Given the description of an element on the screen output the (x, y) to click on. 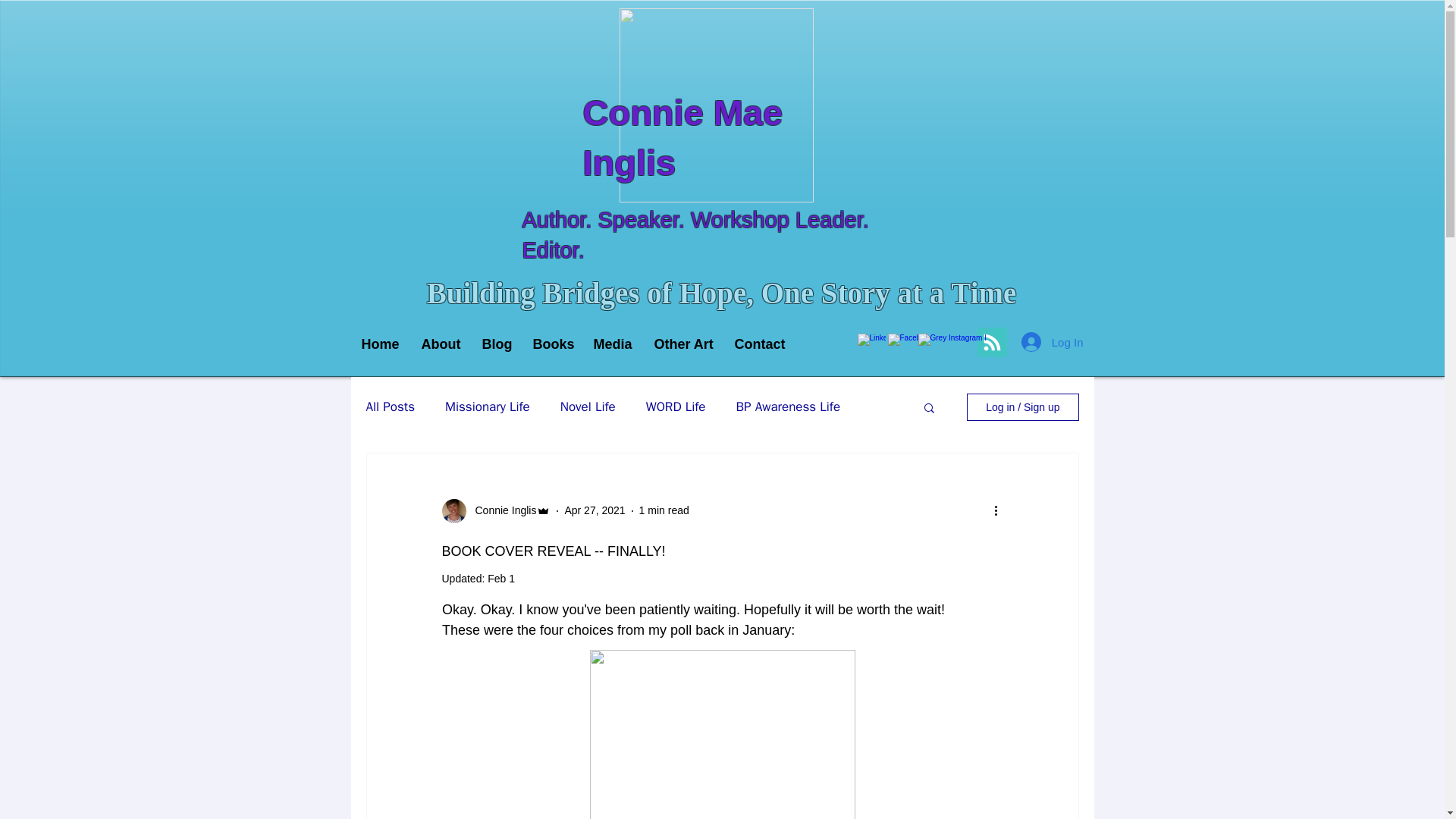
Log In (1052, 341)
Contact (758, 344)
All Posts (389, 406)
Novel Life (587, 406)
Feb 1 (501, 578)
1 min read (663, 510)
Apr 27, 2021 (594, 510)
WORD Life (676, 406)
Home (380, 344)
Books (551, 344)
